Given the description of an element on the screen output the (x, y) to click on. 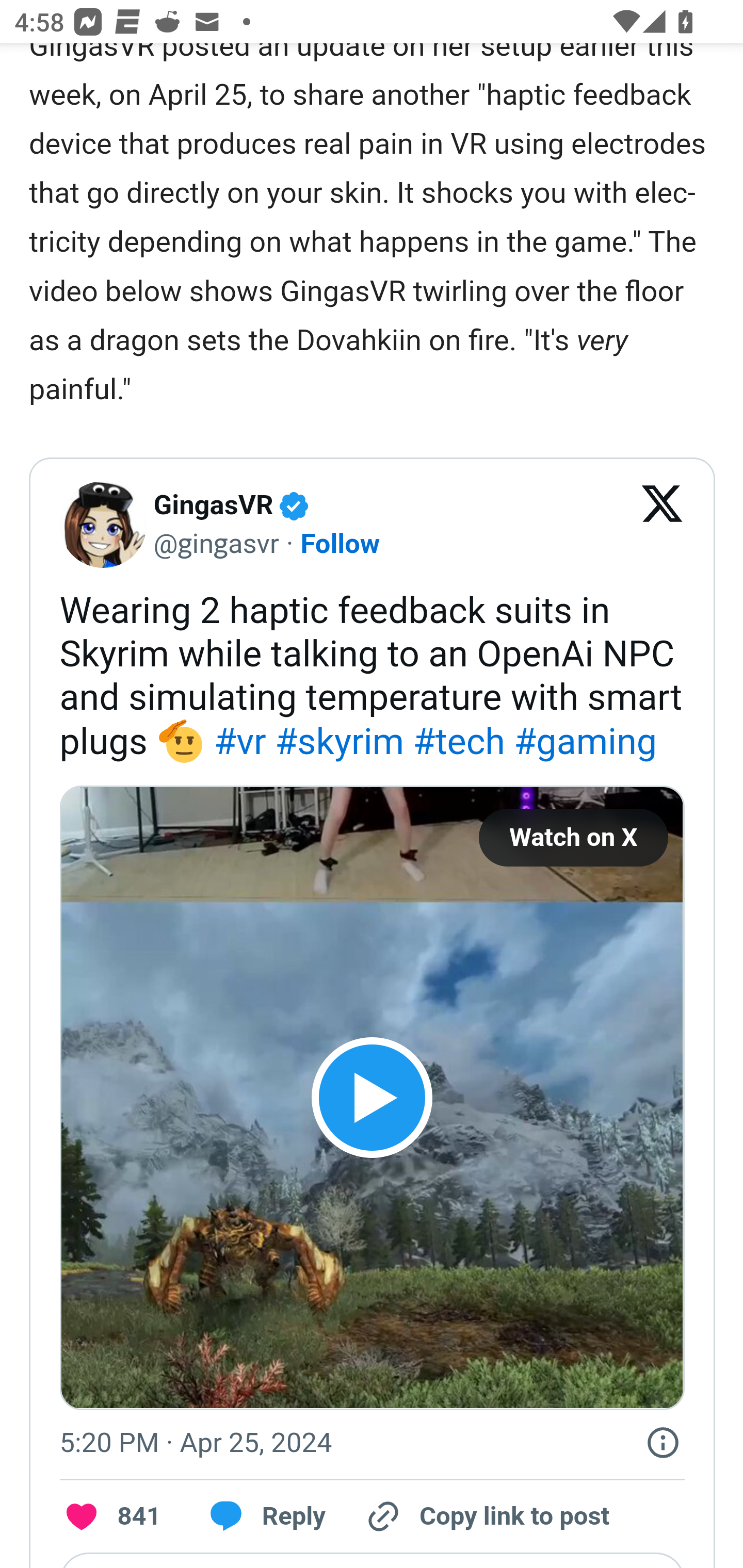
View on X (662, 524)
@gingasvr (215, 543)
Follow (339, 543)
#vr (240, 742)
#skyrim (340, 742)
#tech (458, 742)
#gaming (585, 742)
Play Video Play Video Watch on X Watch on X (371, 1098)
Watch on X (573, 838)
Play Video (371, 1099)
X Ads info and privacy (662, 1442)
5:20 PM · Apr 25, 2024 (195, 1442)
Like. This post has 841 likes 841 (109, 1517)
Reply to this post on X Reply (260, 1517)
Copy link to post (485, 1517)
